Given the description of an element on the screen output the (x, y) to click on. 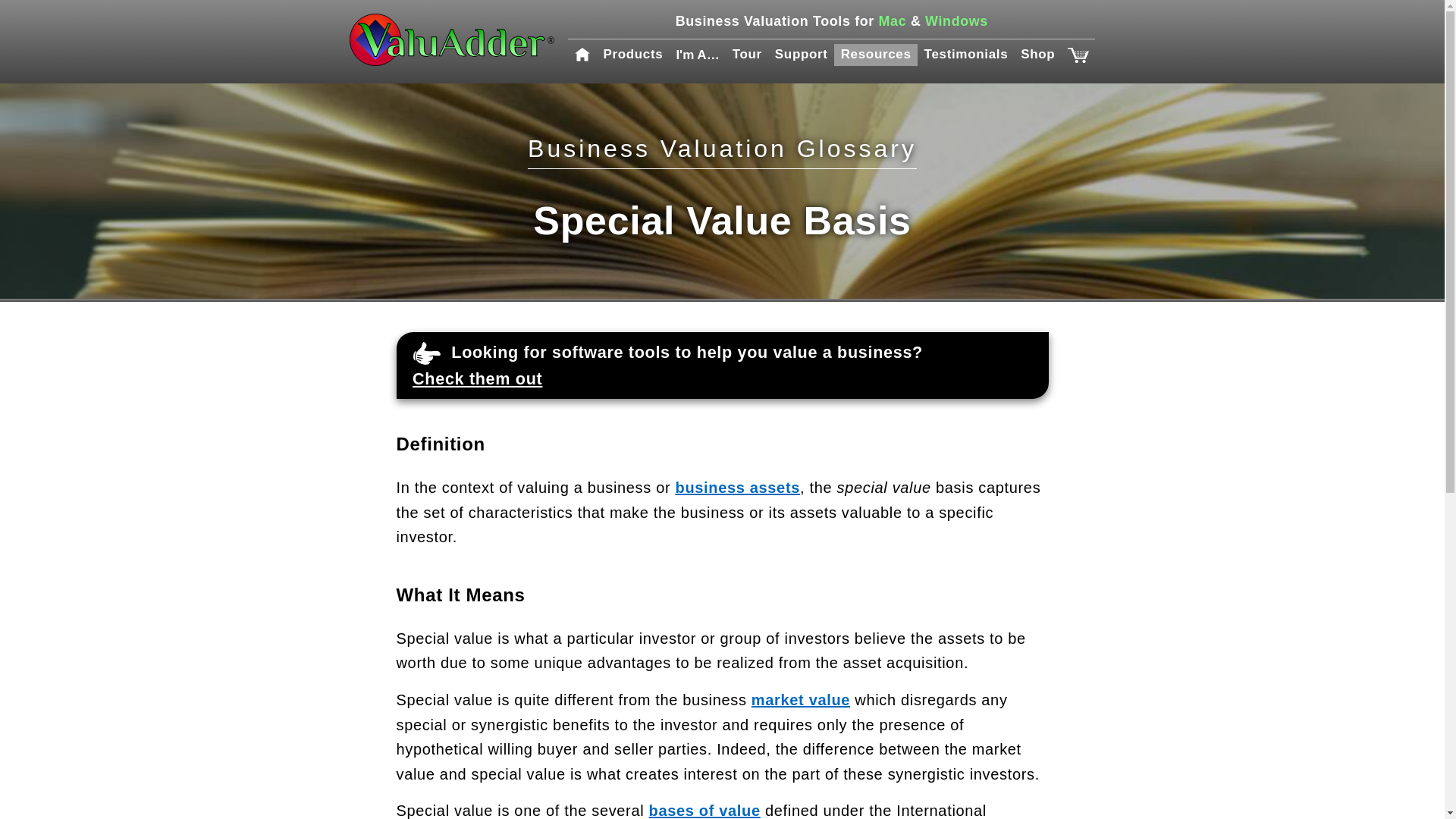
Customer Support (801, 55)
Business Valuation Guide, Glossary and Other Resources (875, 55)
ValuAdder Tour (746, 55)
Testimonials (965, 55)
Shop (1037, 55)
Tour (746, 55)
Products (632, 55)
Support (801, 55)
Resources (875, 55)
View Cart (1077, 55)
business assets (737, 487)
ValuAdder Home (451, 40)
market value (800, 699)
bases of value (704, 810)
